Given the description of an element on the screen output the (x, y) to click on. 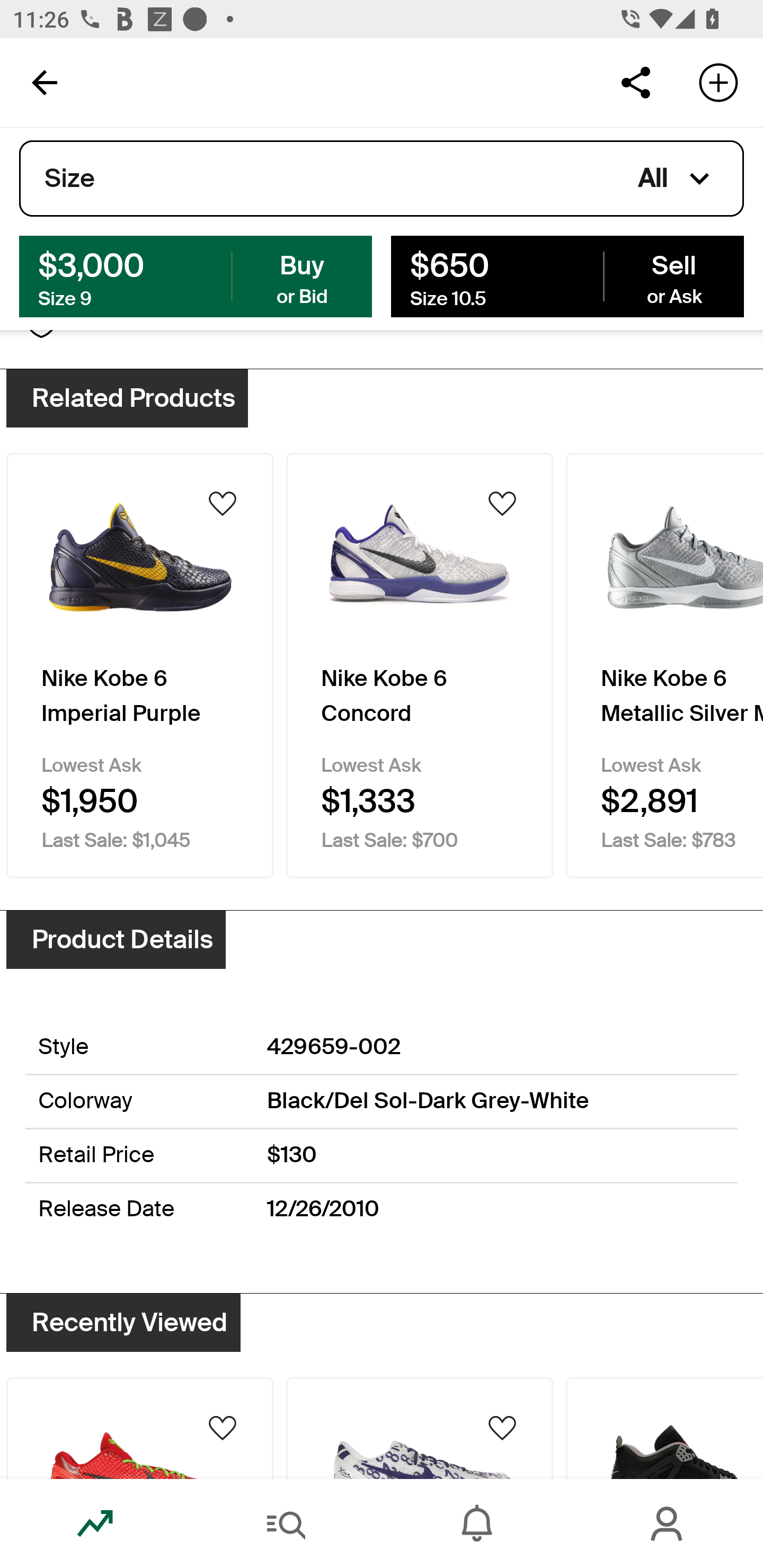
Share (635, 81)
Add (718, 81)
Size All (381, 178)
$146 Buy Size 4.5 or Bid (195, 275)
$260 Sell Size 12.5 or Ask (566, 275)
Search (285, 1523)
Inbox (476, 1523)
Account (667, 1523)
